Given the description of an element on the screen output the (x, y) to click on. 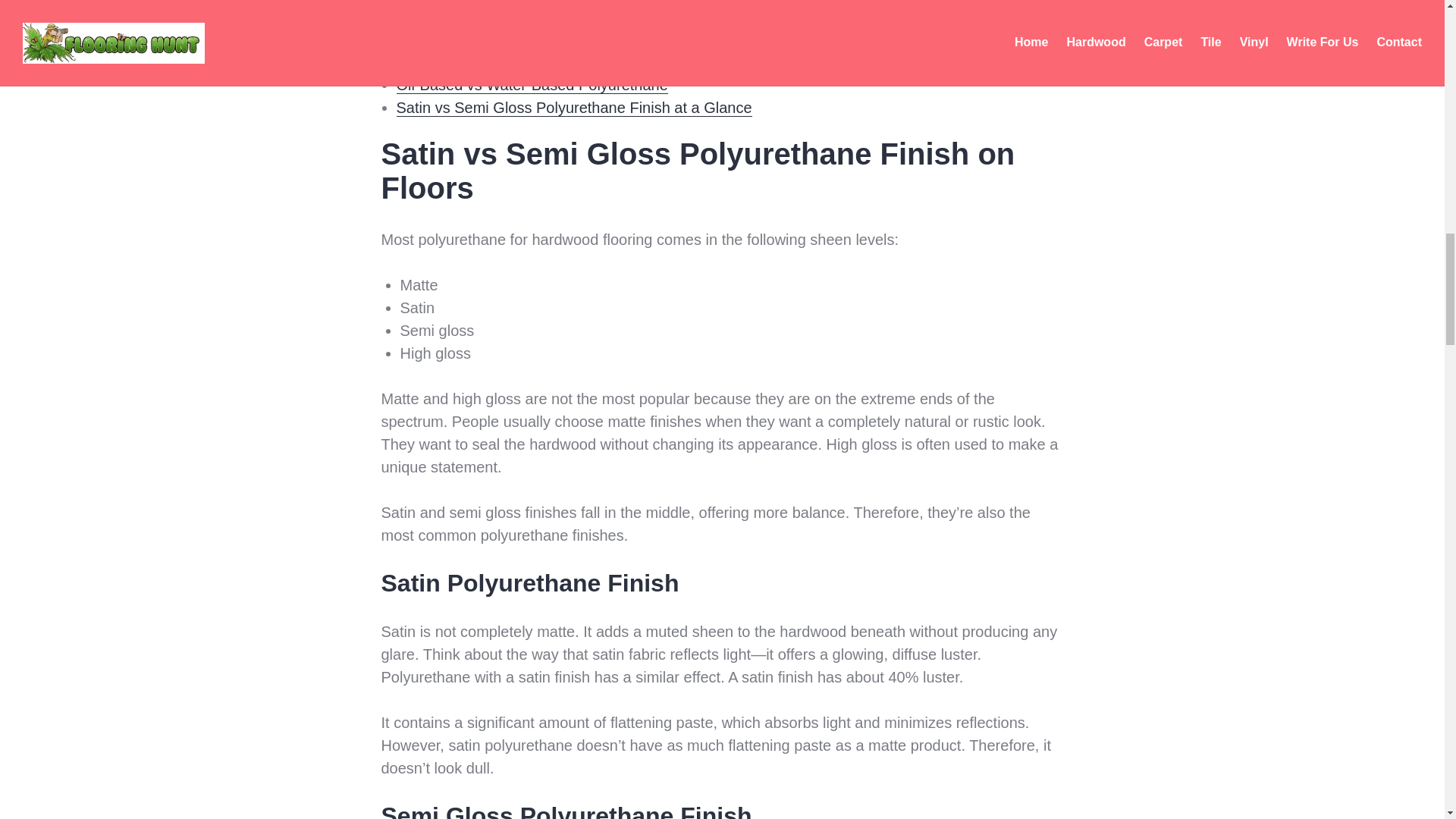
Oil-Based vs Water-Based Polyurethane (531, 84)
Is Satin or Semi Gloss Polyurethane More Durable? (570, 62)
Is a Satin Finish Easier to Clean? (508, 39)
Semi Gloss Polyurethane Finish (541, 1)
Satin vs Semi Gloss Polyurethane Finish at a Glance (573, 107)
